Given the description of an element on the screen output the (x, y) to click on. 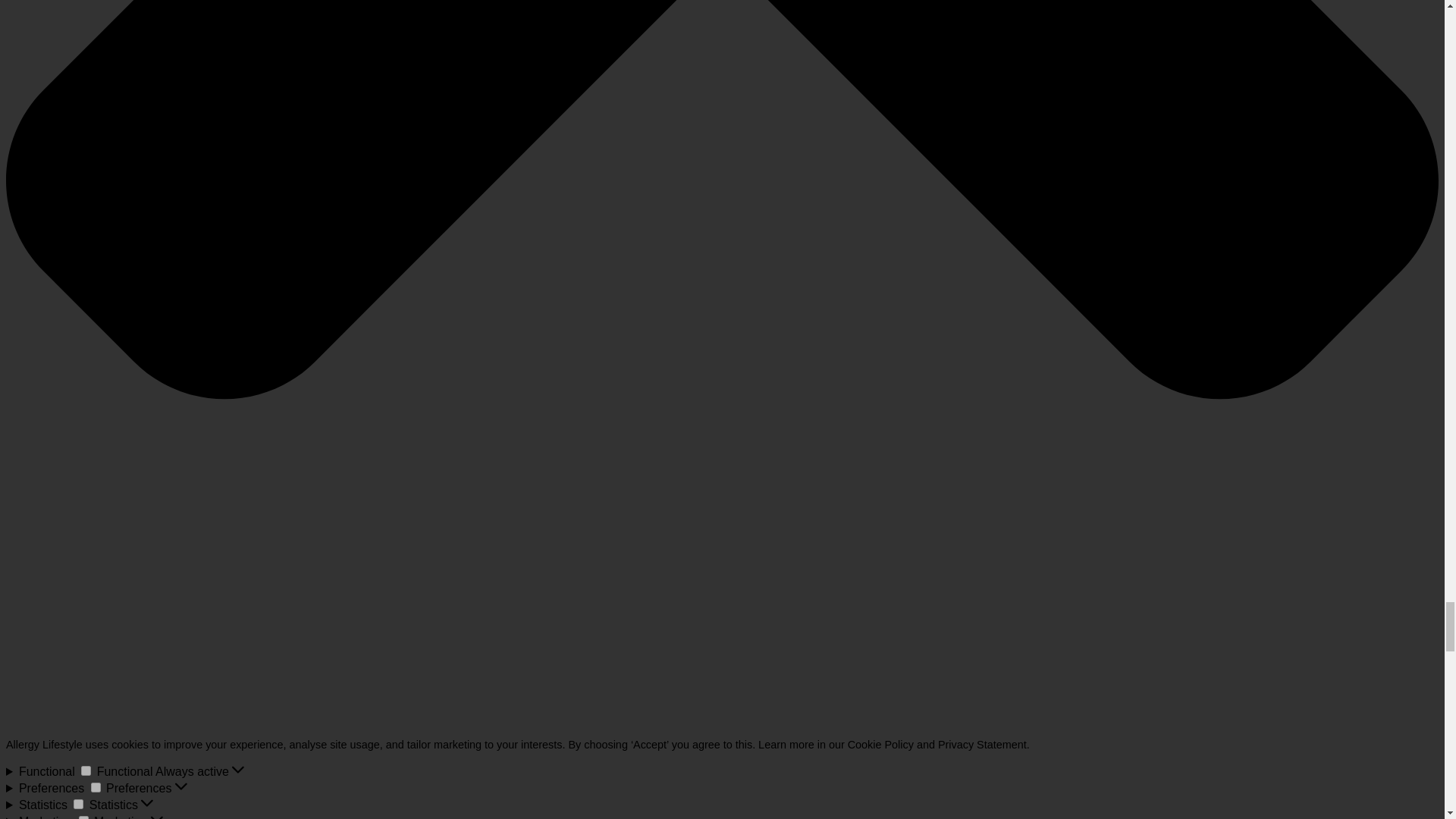
1 (95, 787)
1 (78, 804)
1 (85, 770)
1 (83, 817)
